Given the description of an element on the screen output the (x, y) to click on. 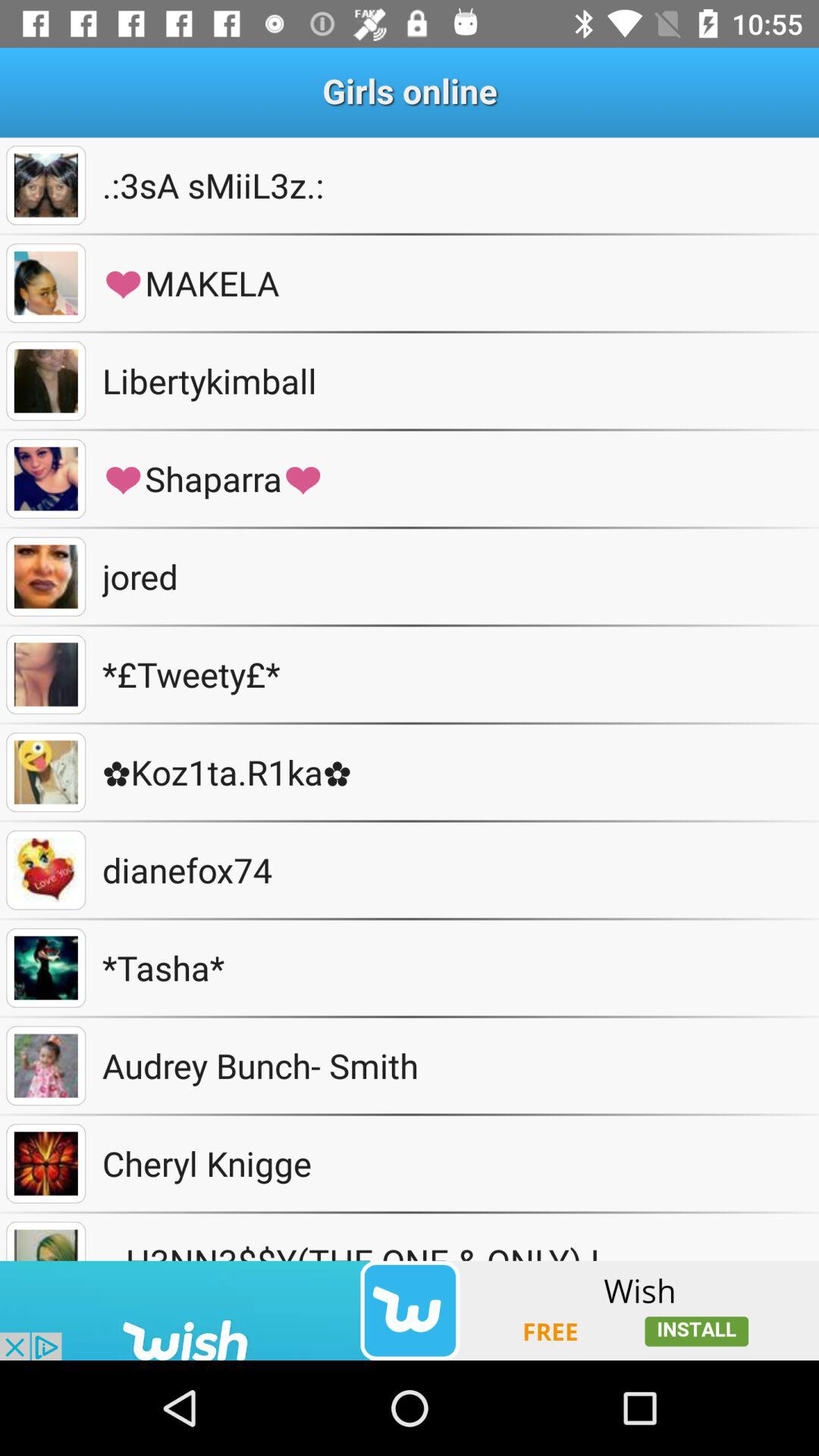
select user profile (45, 478)
